Given the description of an element on the screen output the (x, y) to click on. 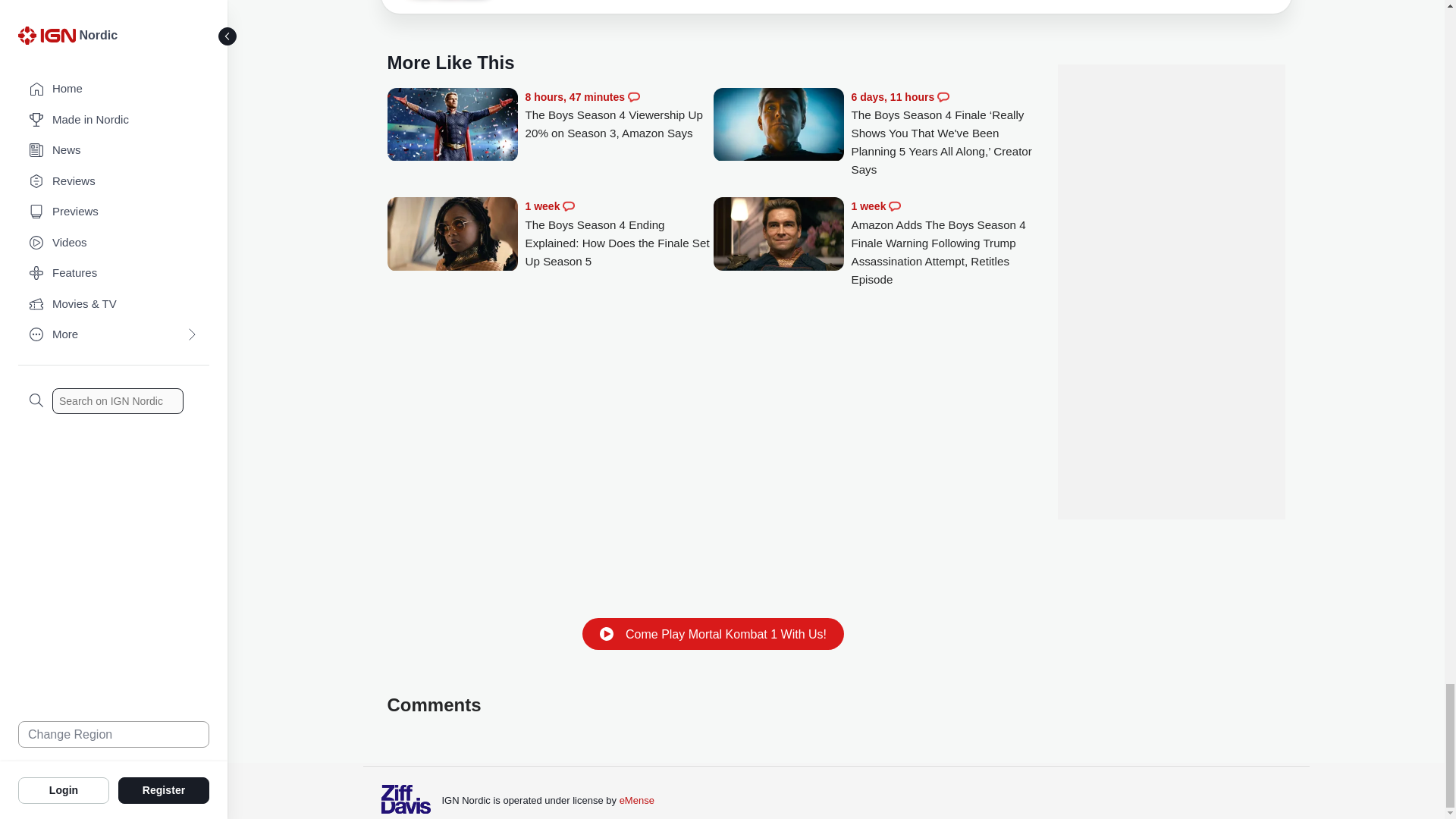
Comments (633, 96)
Comments (894, 205)
Comments (568, 205)
Comments (943, 96)
